Given the description of an element on the screen output the (x, y) to click on. 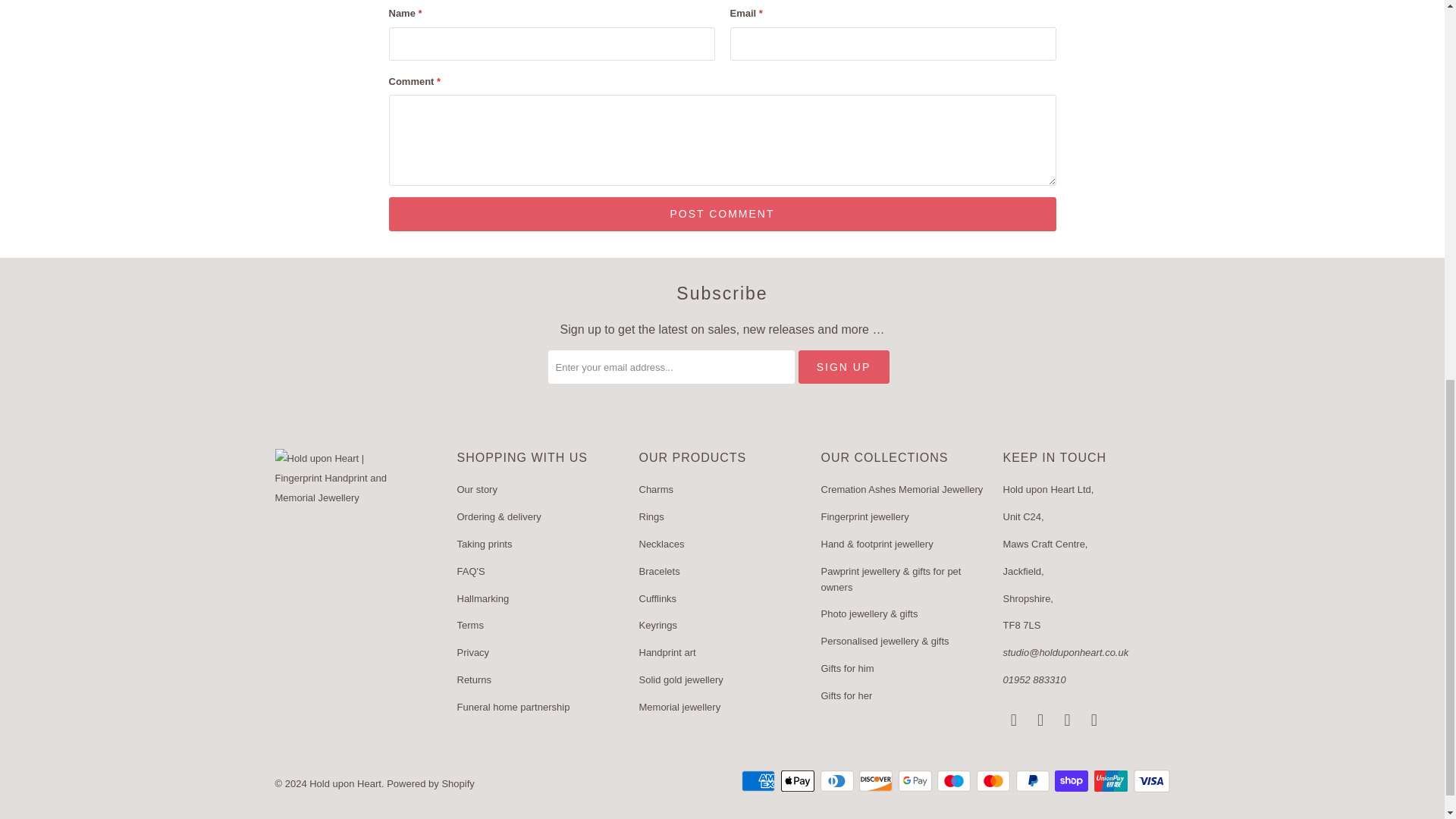
Apple Pay (798, 780)
Discover (877, 780)
Sign Up (842, 367)
Visa (1150, 780)
Maestro (955, 780)
Mastercard (994, 780)
Post comment (721, 213)
American Express (759, 780)
Diners Club (839, 780)
Union Pay (1112, 780)
